Given the description of an element on the screen output the (x, y) to click on. 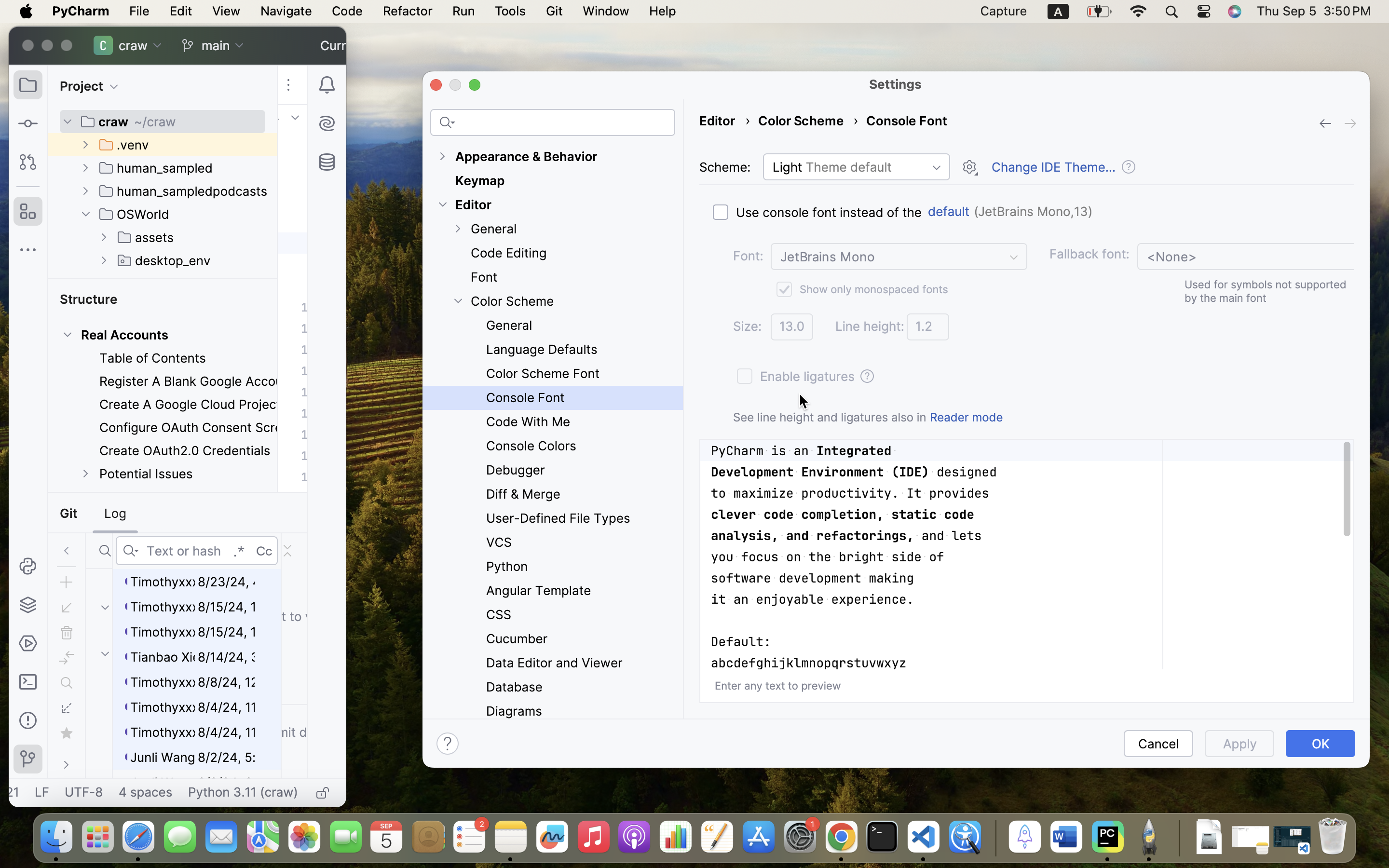
JetBrains Mono,13 Element type: AXStaticText (1033, 211)
Settings Element type: AXStaticText (895, 83)
Light Theme default Element type: AXPopUpButton (856, 166)
